Given the description of an element on the screen output the (x, y) to click on. 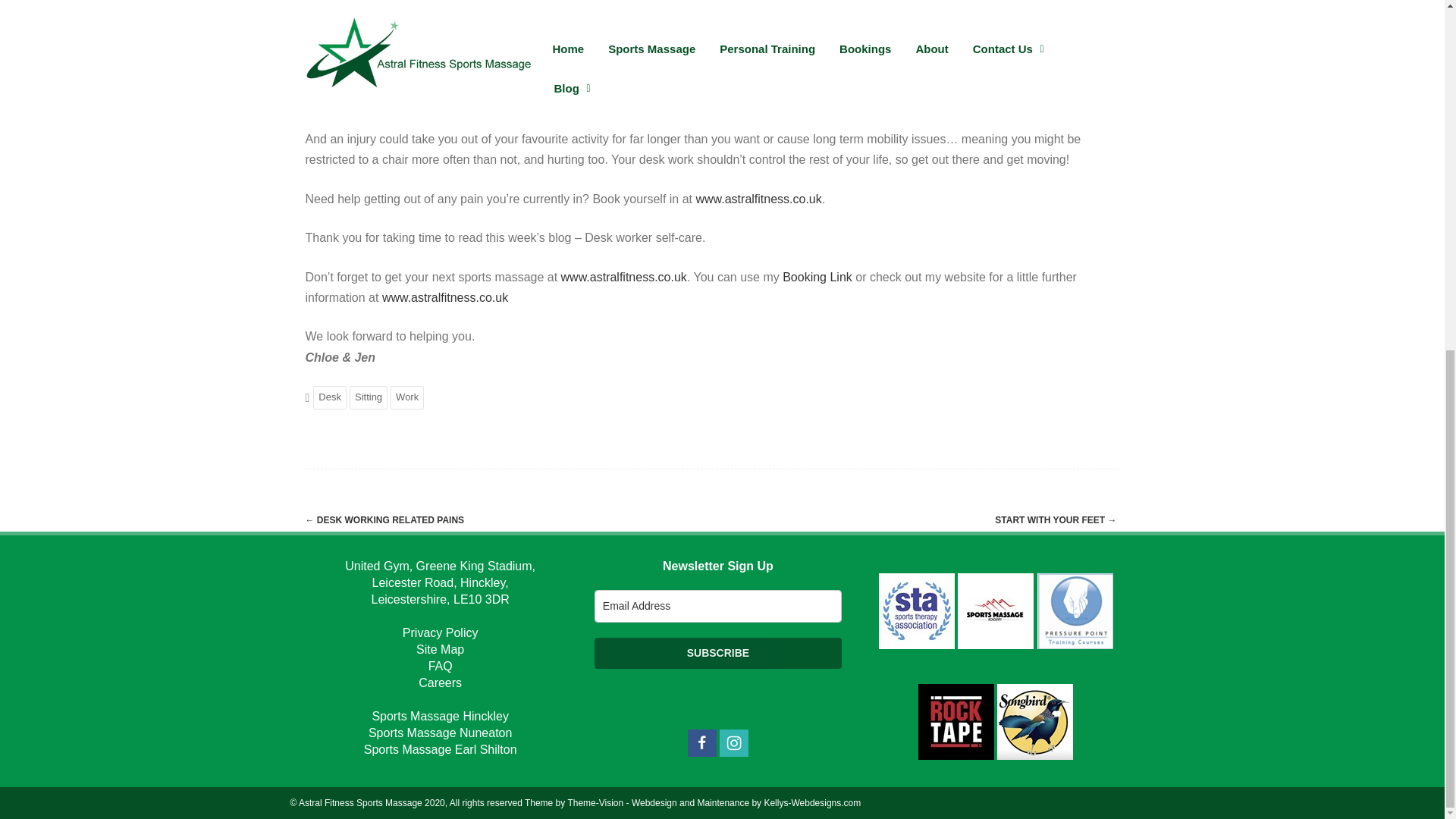
Work (406, 396)
www.astralfitness.co.uk (758, 198)
Sitting (368, 396)
www.astralfitness.co.uk (444, 297)
www.astralfitness.co.uk (623, 277)
Booking Link (817, 277)
Desk (329, 396)
